Given the description of an element on the screen output the (x, y) to click on. 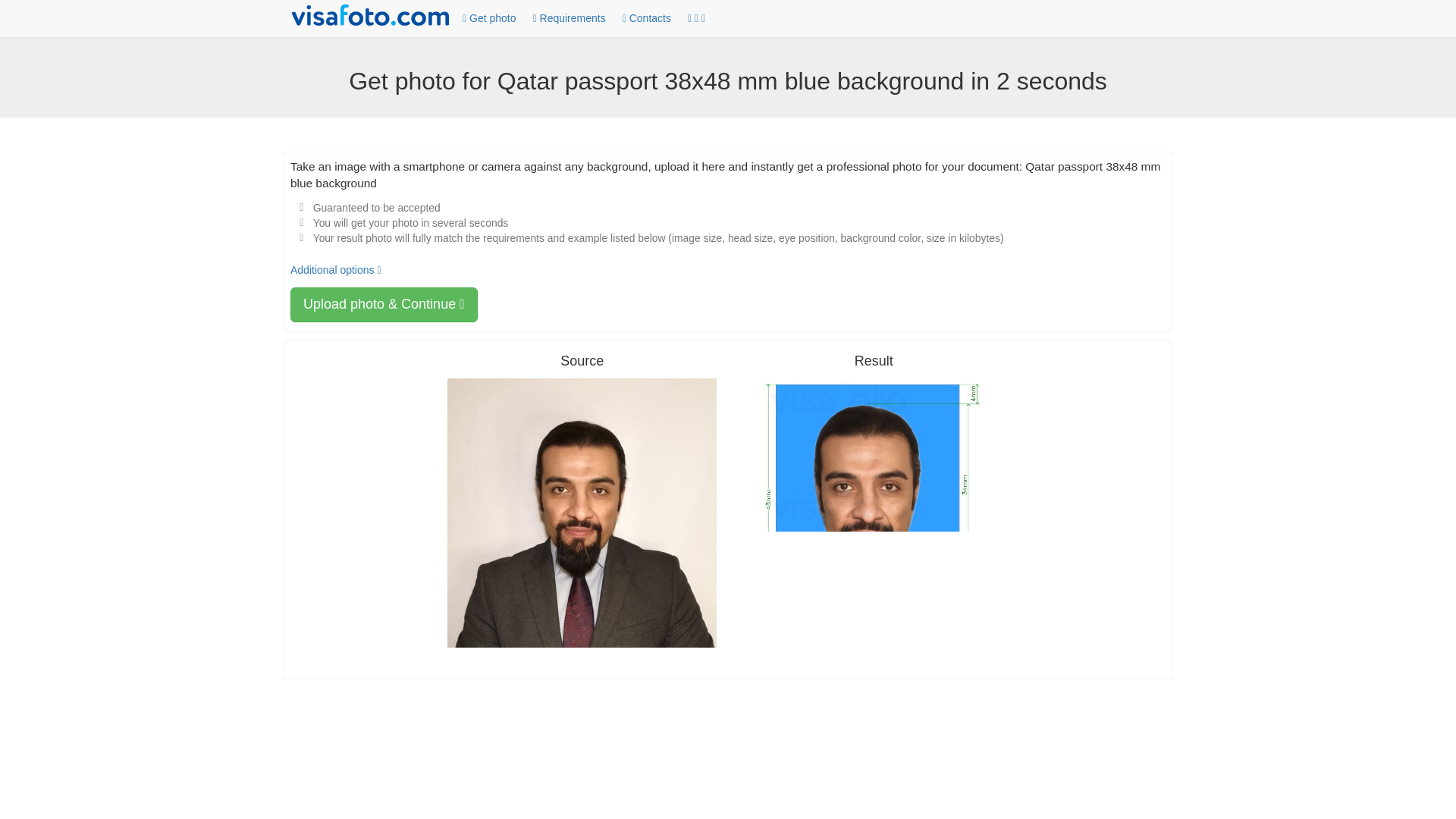
Requirements (568, 19)
Get photo (489, 19)
Contacts (646, 19)
Additional options (335, 269)
